Given the description of an element on the screen output the (x, y) to click on. 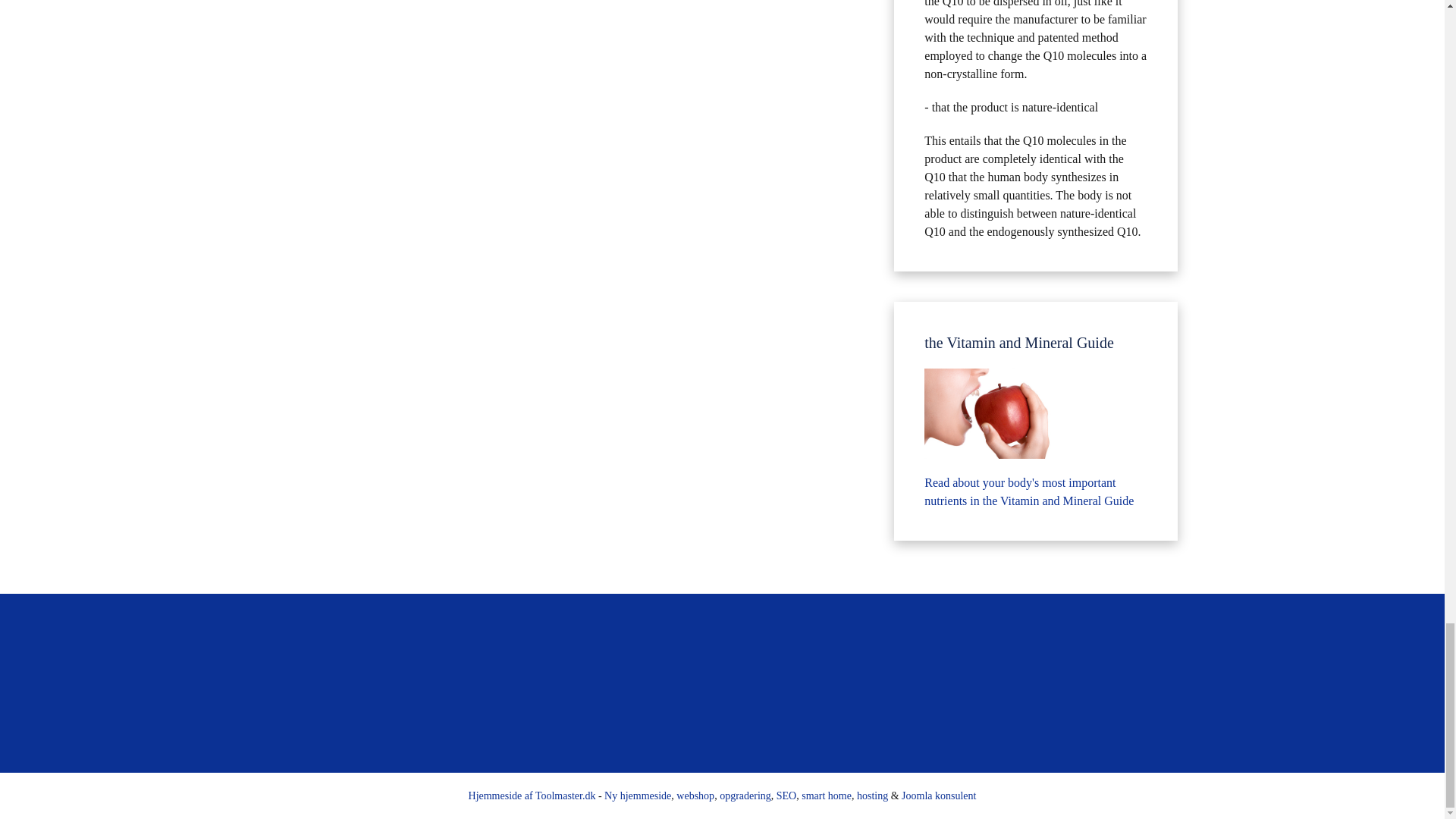
the Vitamin and Mineral Guide (992, 413)
